Given the description of an element on the screen output the (x, y) to click on. 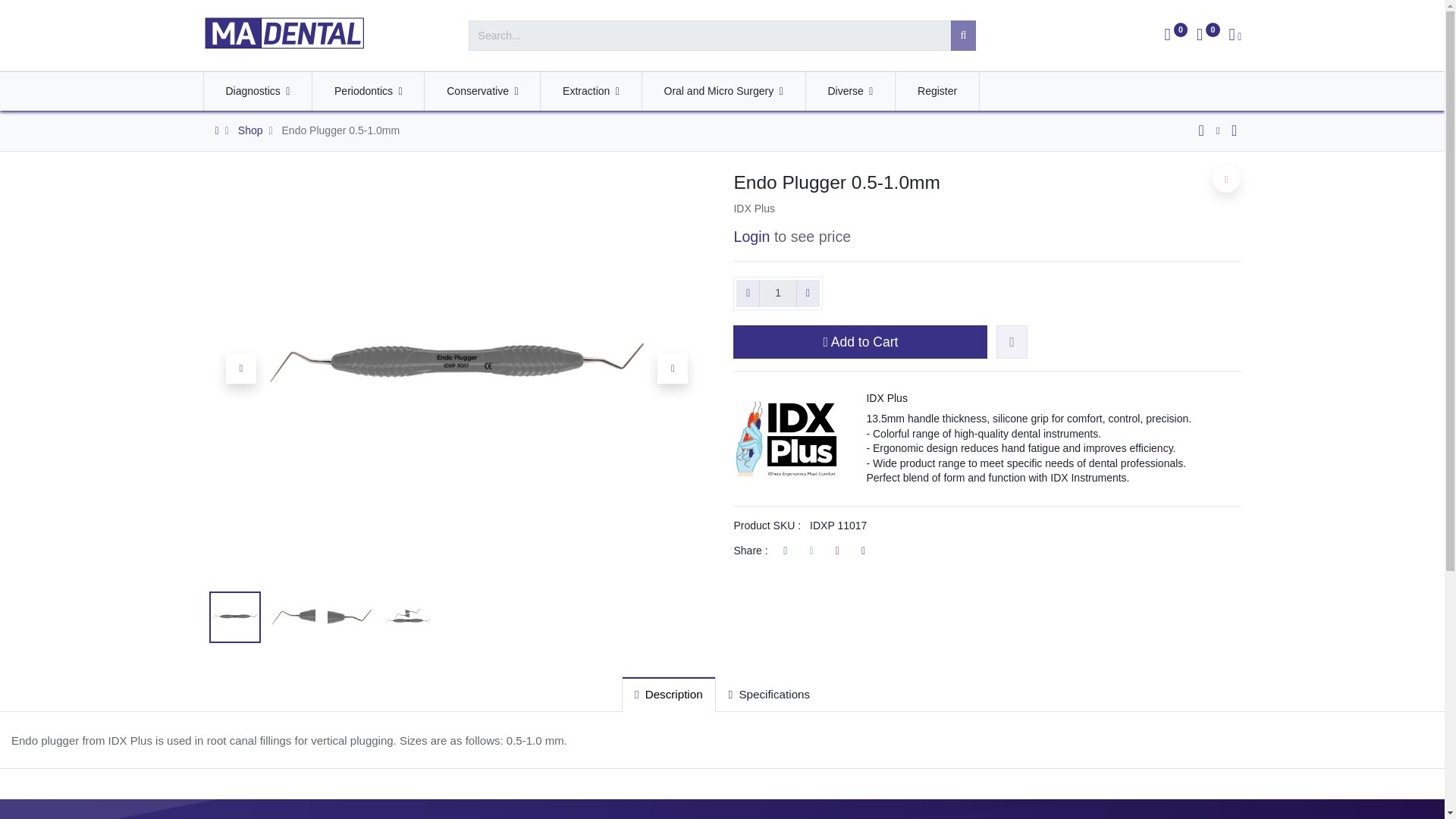
Periodontics (368, 91)
MA Dental (284, 33)
Extraction (590, 91)
1 (777, 293)
0 (1208, 36)
Login (751, 236)
Diverse (850, 91)
Previous (240, 368)
Conservative (482, 91)
Oral and Micro Surgery (723, 91)
